Given the description of an element on the screen output the (x, y) to click on. 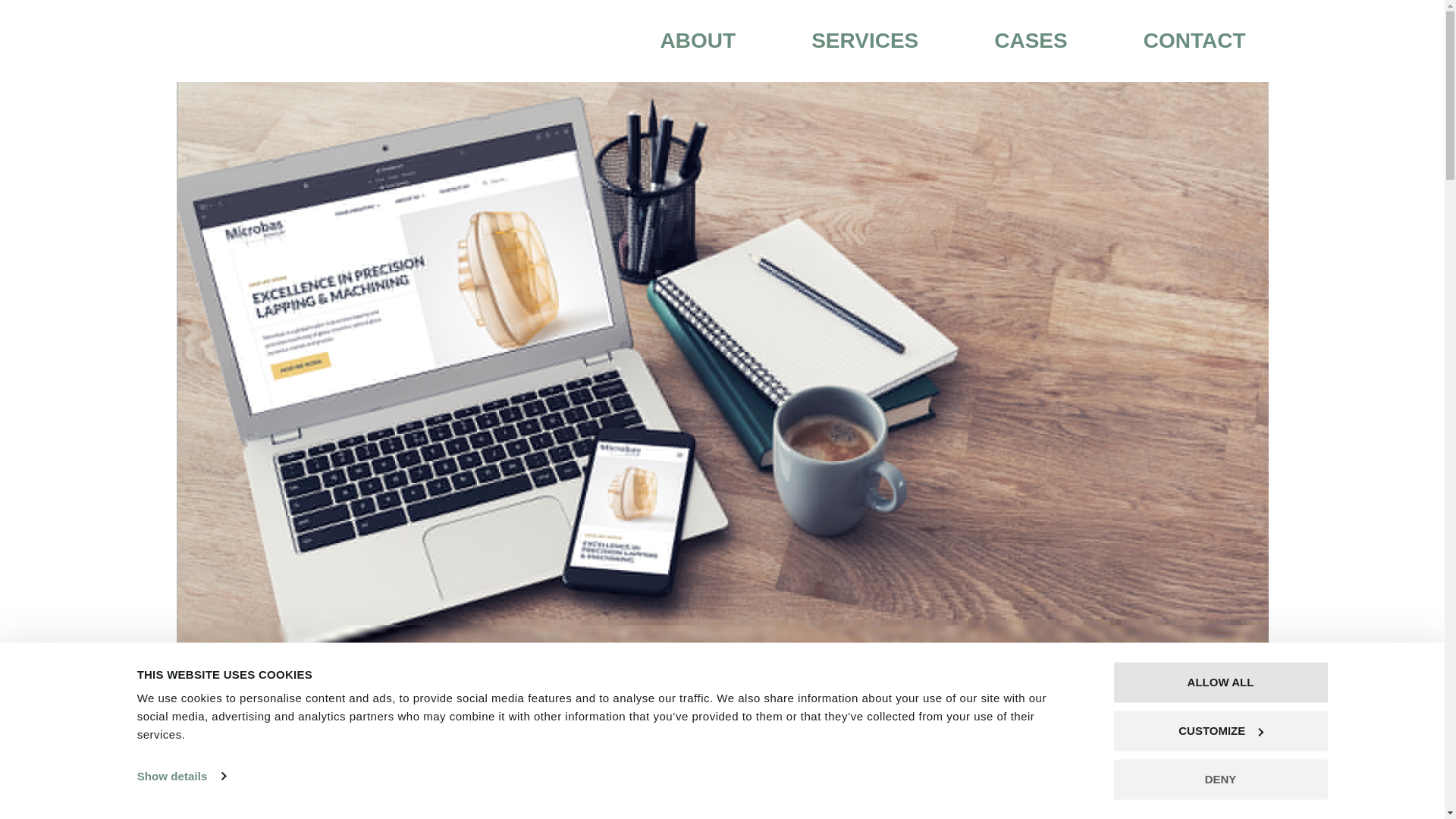
ABOUT (698, 40)
Show details (180, 775)
ALLOW ALL (1219, 682)
CUSTOMIZE (1219, 731)
CASES (1030, 40)
SERVICES (864, 40)
DENY (1219, 779)
